Given the description of an element on the screen output the (x, y) to click on. 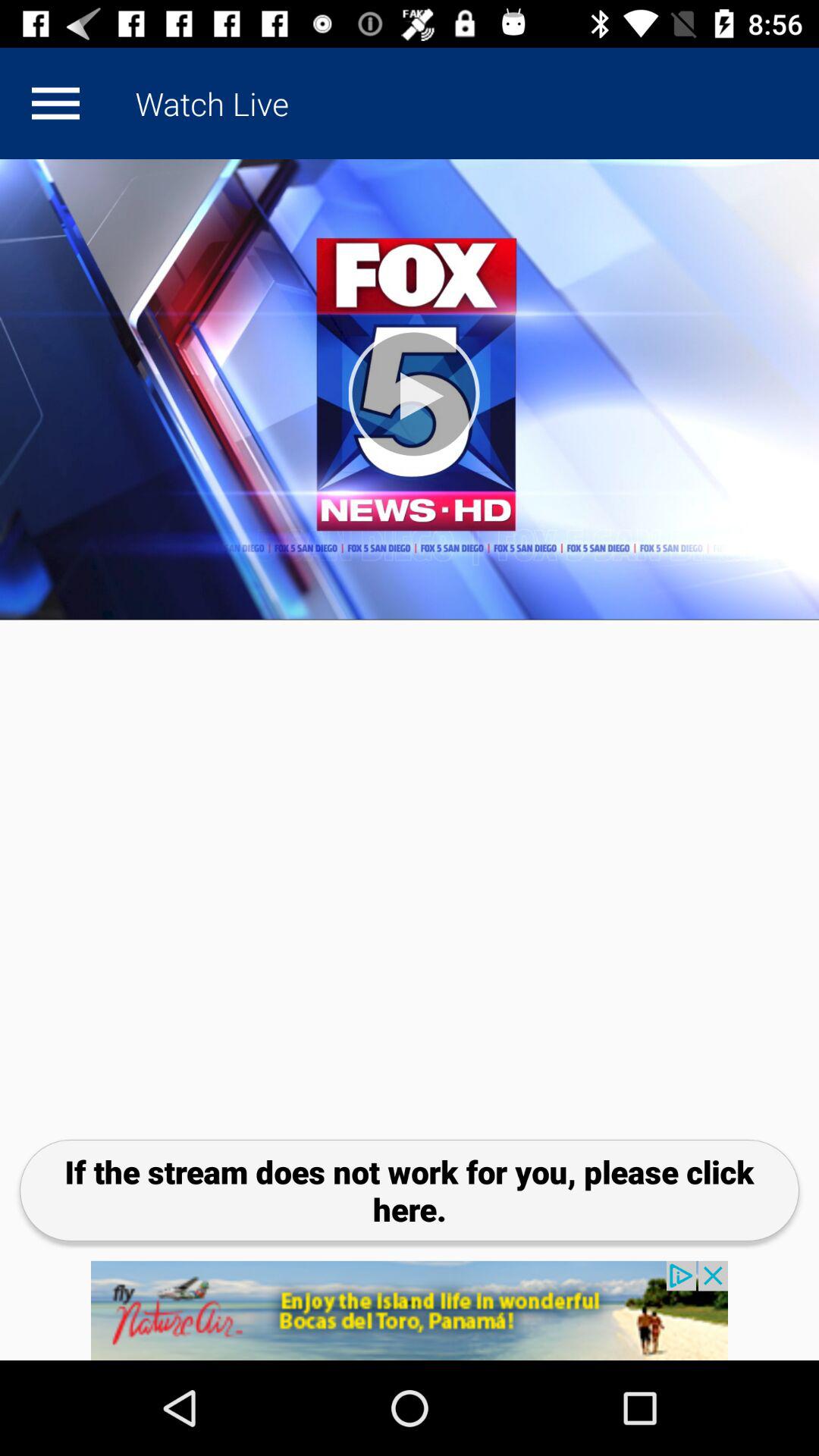
play video (409, 389)
